Given the description of an element on the screen output the (x, y) to click on. 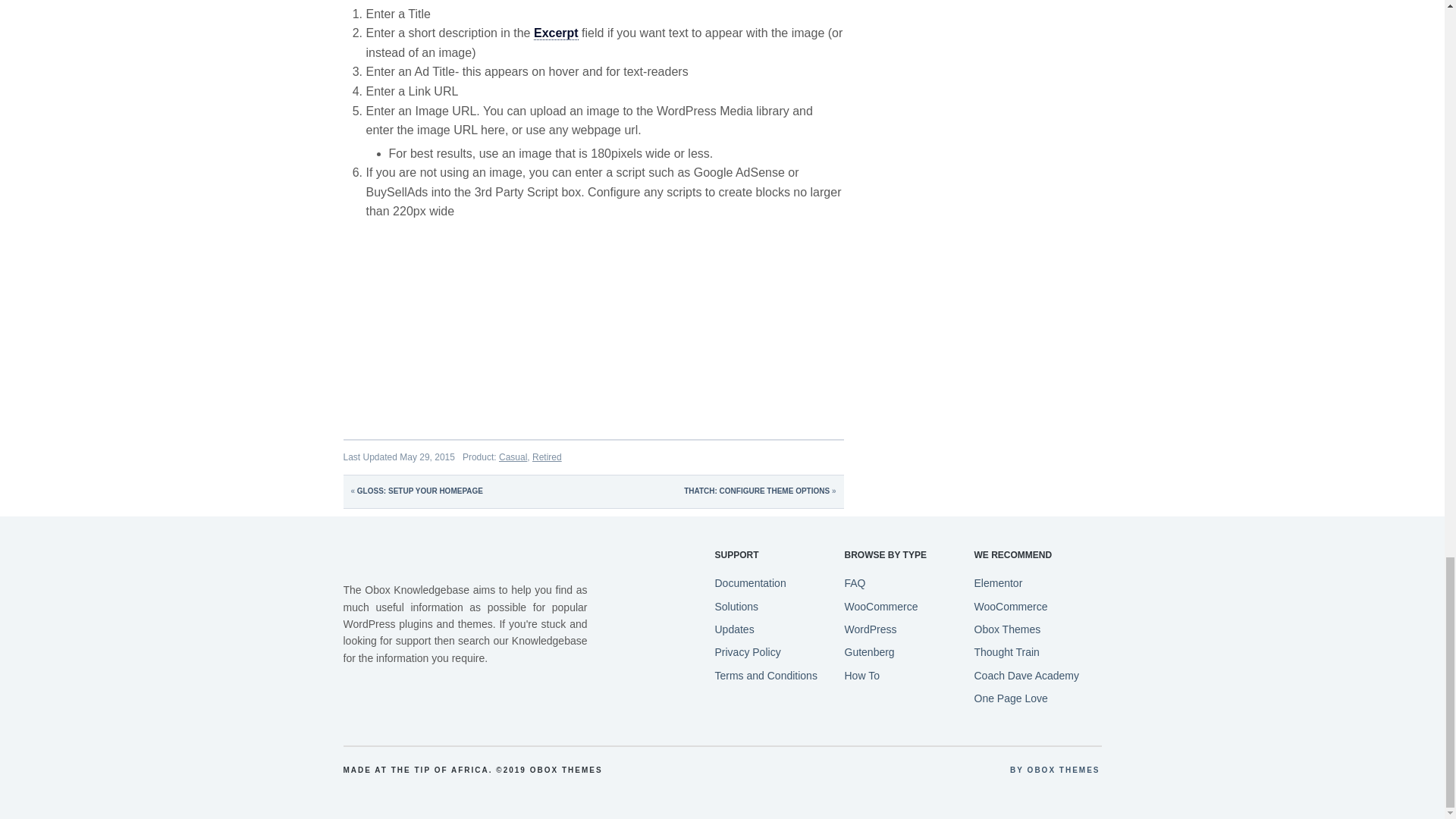
Excerpt (556, 33)
THATCH: CONFIGURE THEME OPTIONS (756, 490)
GLOSS: SETUP YOUR HOMEPAGE (419, 490)
Thatch: Configure Theme Options (756, 490)
Gloss: Setup Your Homepage (419, 490)
Casual (513, 457)
Retired (547, 457)
